Given the description of an element on the screen output the (x, y) to click on. 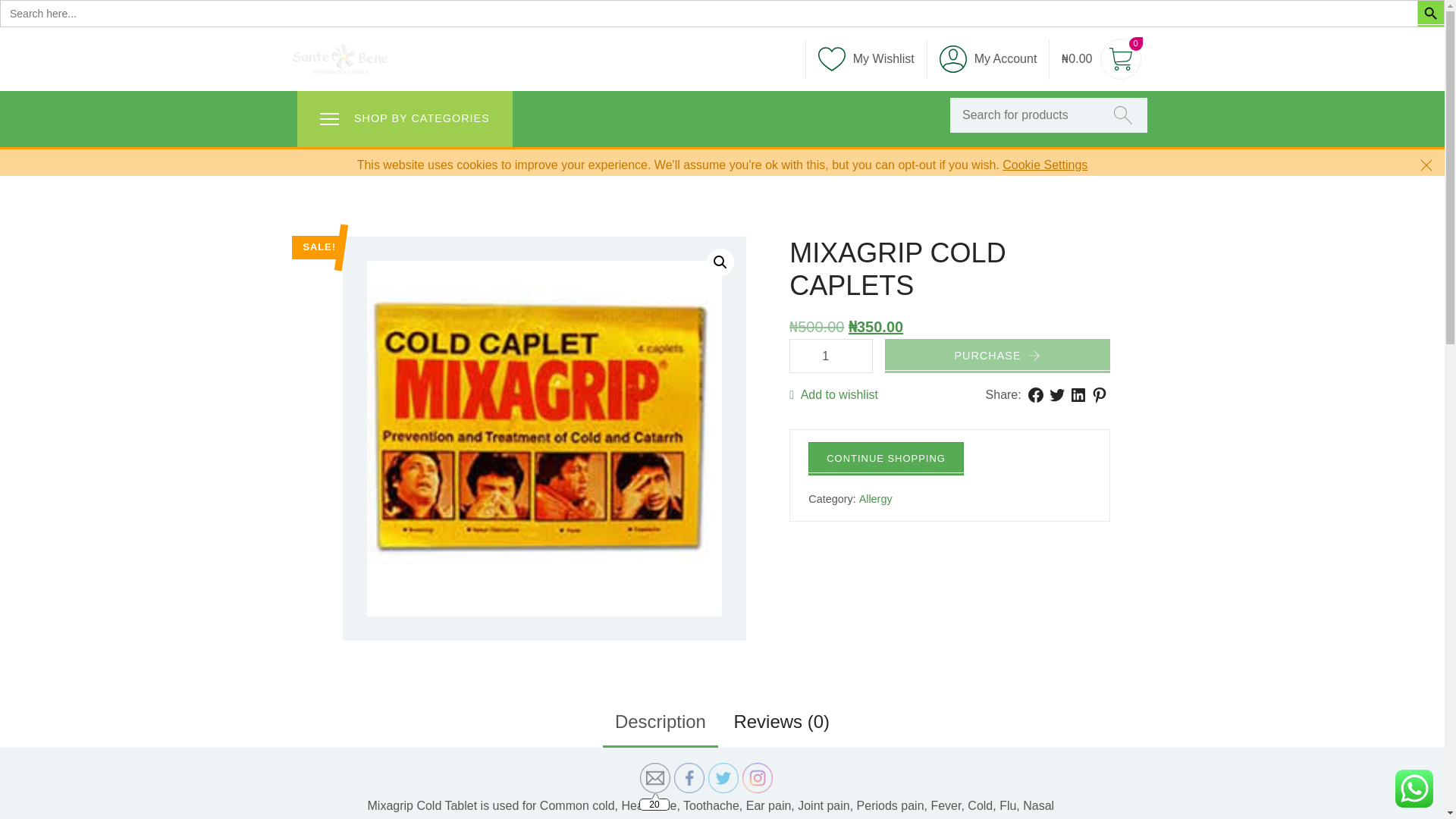
Search (42, 18)
My Account (987, 59)
1 (830, 356)
My Account (987, 59)
Santebene (340, 59)
My Wishlist (865, 58)
SEARCH BUTTON (1430, 13)
Shopping Cart (1100, 59)
My Wishlist (865, 58)
SHOP BY CATEGORIES (404, 118)
